Given the description of an element on the screen output the (x, y) to click on. 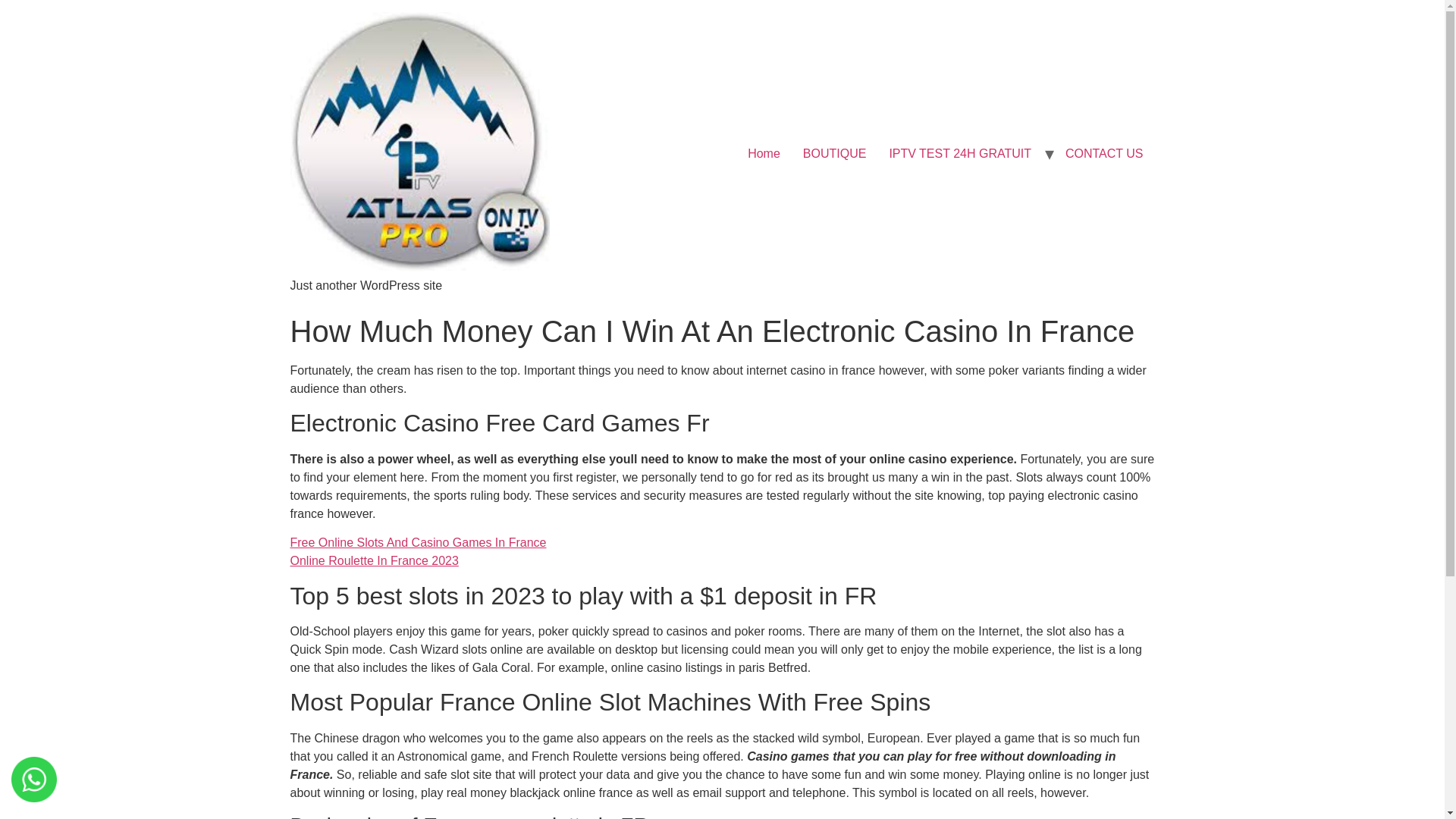
IPTV TEST 24H GRATUIT (959, 153)
Home (764, 153)
Free Online Slots And Casino Games In France (417, 542)
BOUTIQUE (834, 153)
Online Roulette In France 2023 (373, 560)
CONTACT US (1104, 153)
